Given the description of an element on the screen output the (x, y) to click on. 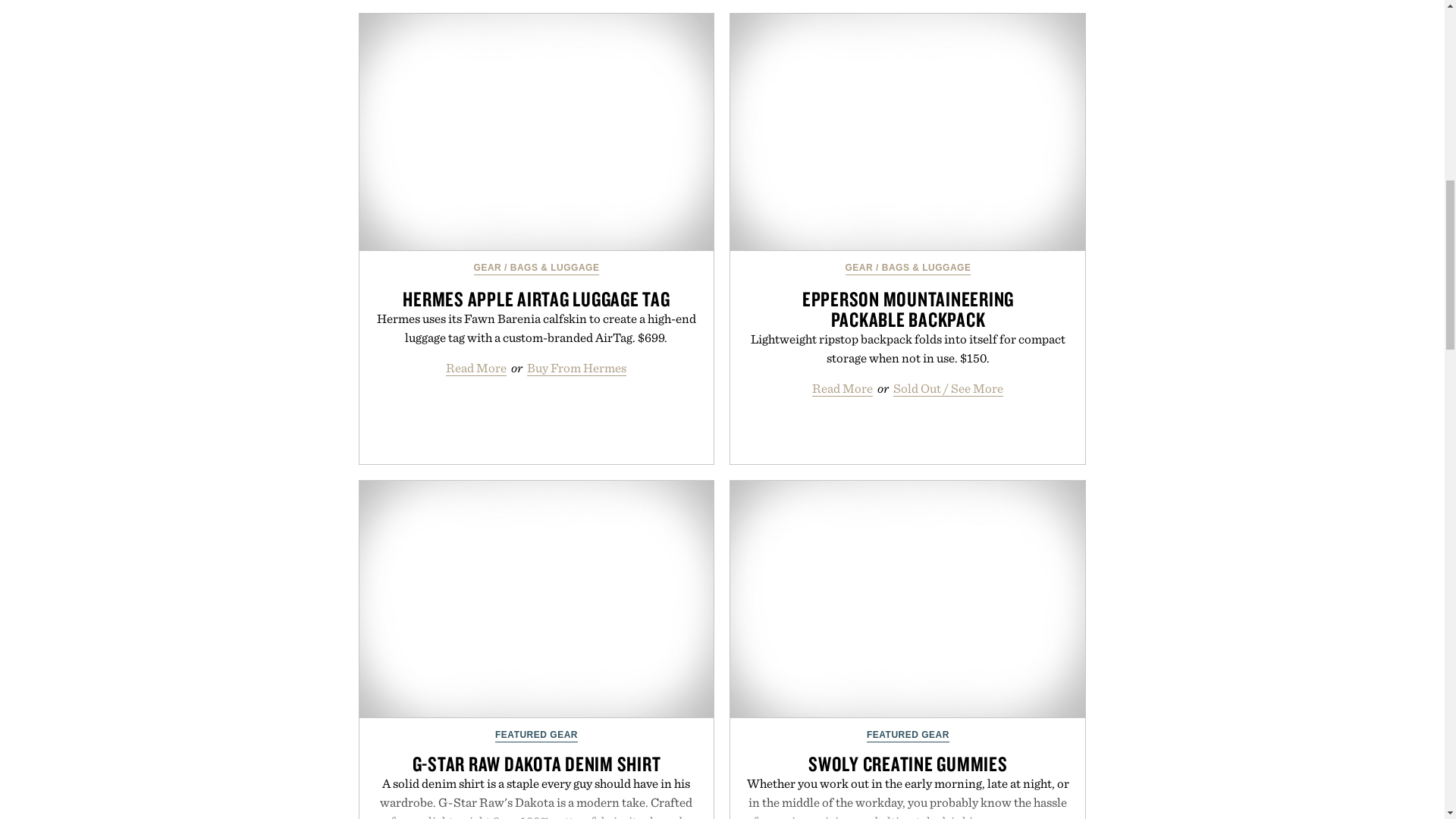
Epperson Mountaineering Packable Backpack (907, 131)
Swoly Creatine Gummies (907, 599)
G-Star Raw Dakota Denim Shirt (536, 599)
Hermes Apple AirTag Luggage Tag (536, 131)
